Given the description of an element on the screen output the (x, y) to click on. 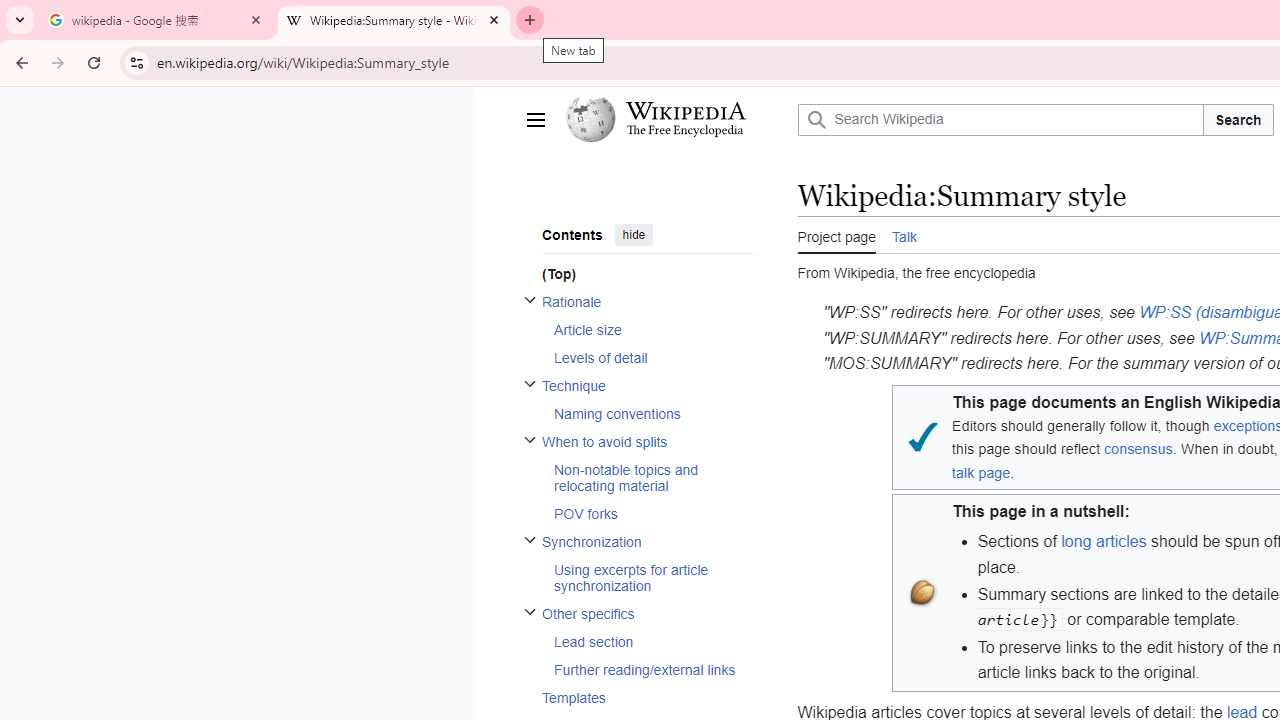
Non-notable topics and relocating material (654, 477)
Lead section (654, 641)
AutomationID: ca-nstab-project (836, 234)
Levels of detail (654, 357)
When to avoid splits (649, 440)
Search Wikipedia (1000, 119)
AutomationID: toc-Naming_conventions (649, 412)
AutomationID: toc-When_to_avoid_splits (642, 476)
AutomationID: toc-Further_reading/external_links (649, 669)
AutomationID: toc-Using_excerpts_for_article_synchronization (649, 577)
